Given the description of an element on the screen output the (x, y) to click on. 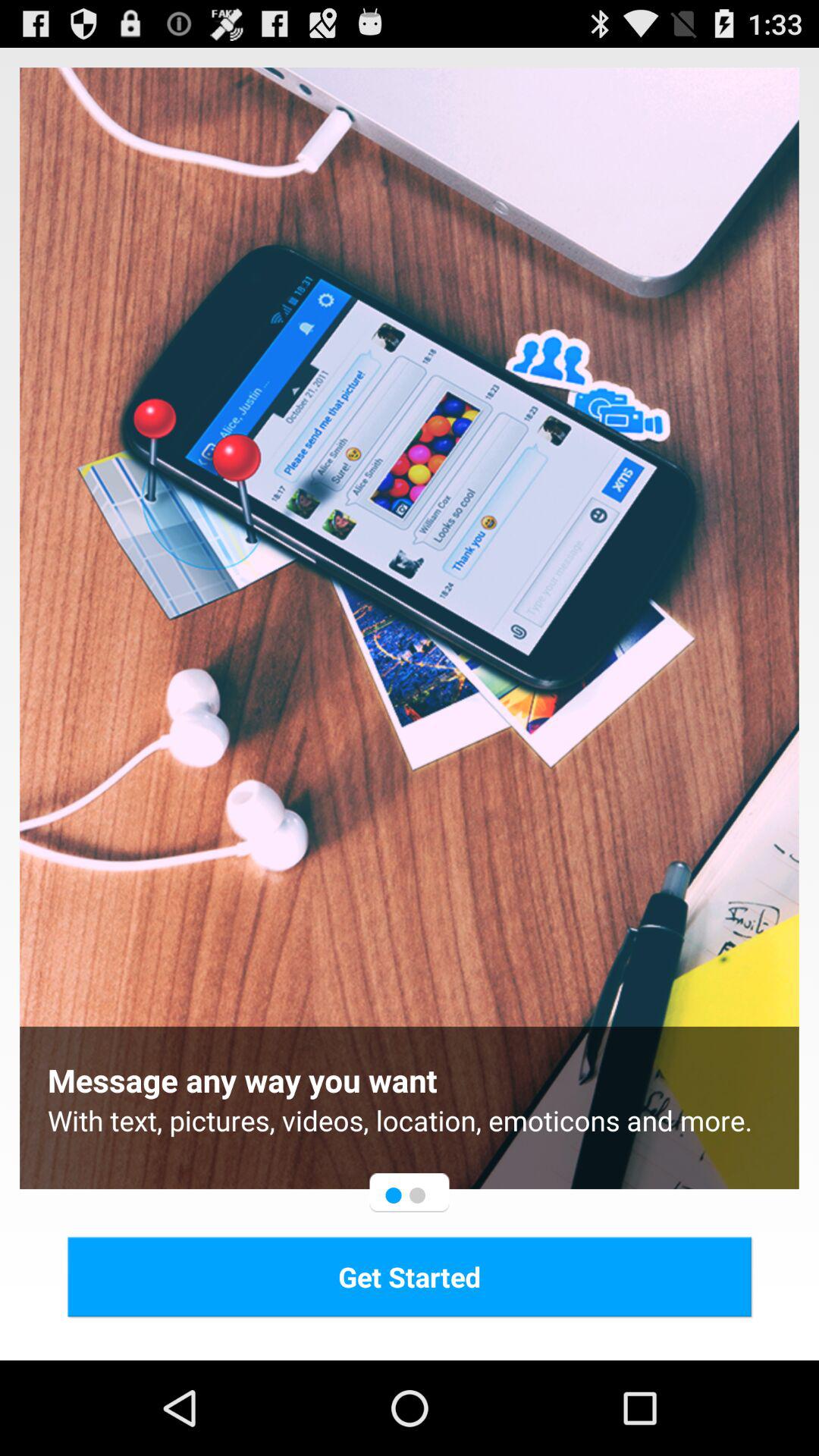
select the get started item (409, 1276)
